Given the description of an element on the screen output the (x, y) to click on. 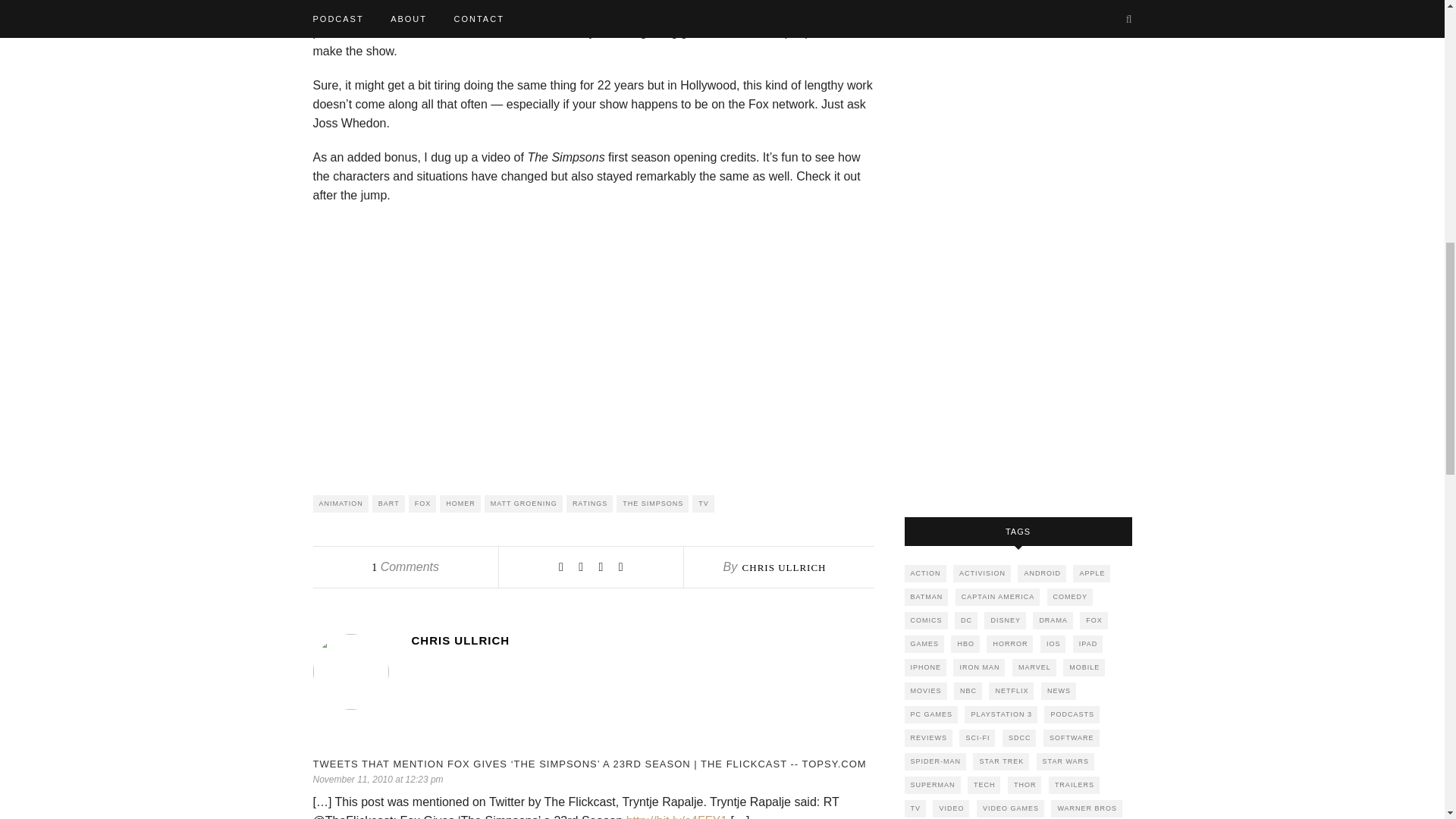
HOMER (459, 503)
MATT GROENING (523, 503)
ACTION (924, 573)
CHRIS ULLRICH (784, 567)
Posts by Chris Ullrich (784, 567)
ACTIVISION (981, 573)
CHRIS ULLRICH (641, 640)
Posts by Chris Ullrich (641, 640)
TV (703, 503)
FOX (422, 503)
1 Comments (405, 566)
ANIMATION (340, 503)
BART (388, 503)
THE SIMPSONS (651, 503)
RATINGS (589, 503)
